Given the description of an element on the screen output the (x, y) to click on. 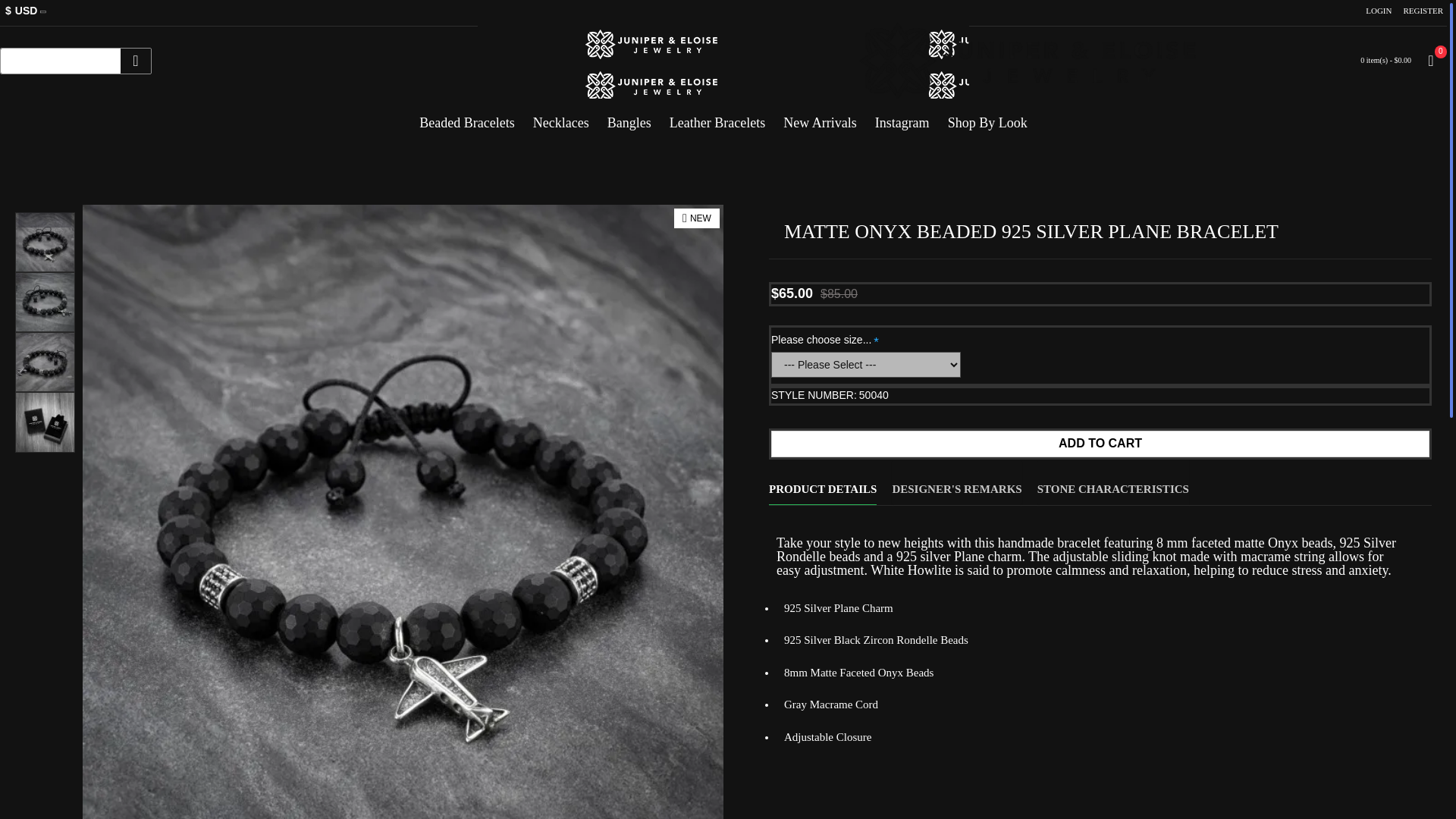
Shop By Look (987, 117)
Bangles (629, 117)
STONE CHARACTERISTICS (1112, 481)
DESIGNER'S REMARKS (956, 481)
New Arrivals (819, 117)
Matte Onyx Beaded 925 Silver Plane Bracelet (44, 241)
Instagram (902, 117)
LOGIN (1377, 11)
Leather Bracelets (717, 117)
Matte Onyx Beaded 925 Silver Plane Bracelet (44, 362)
